Given the description of an element on the screen output the (x, y) to click on. 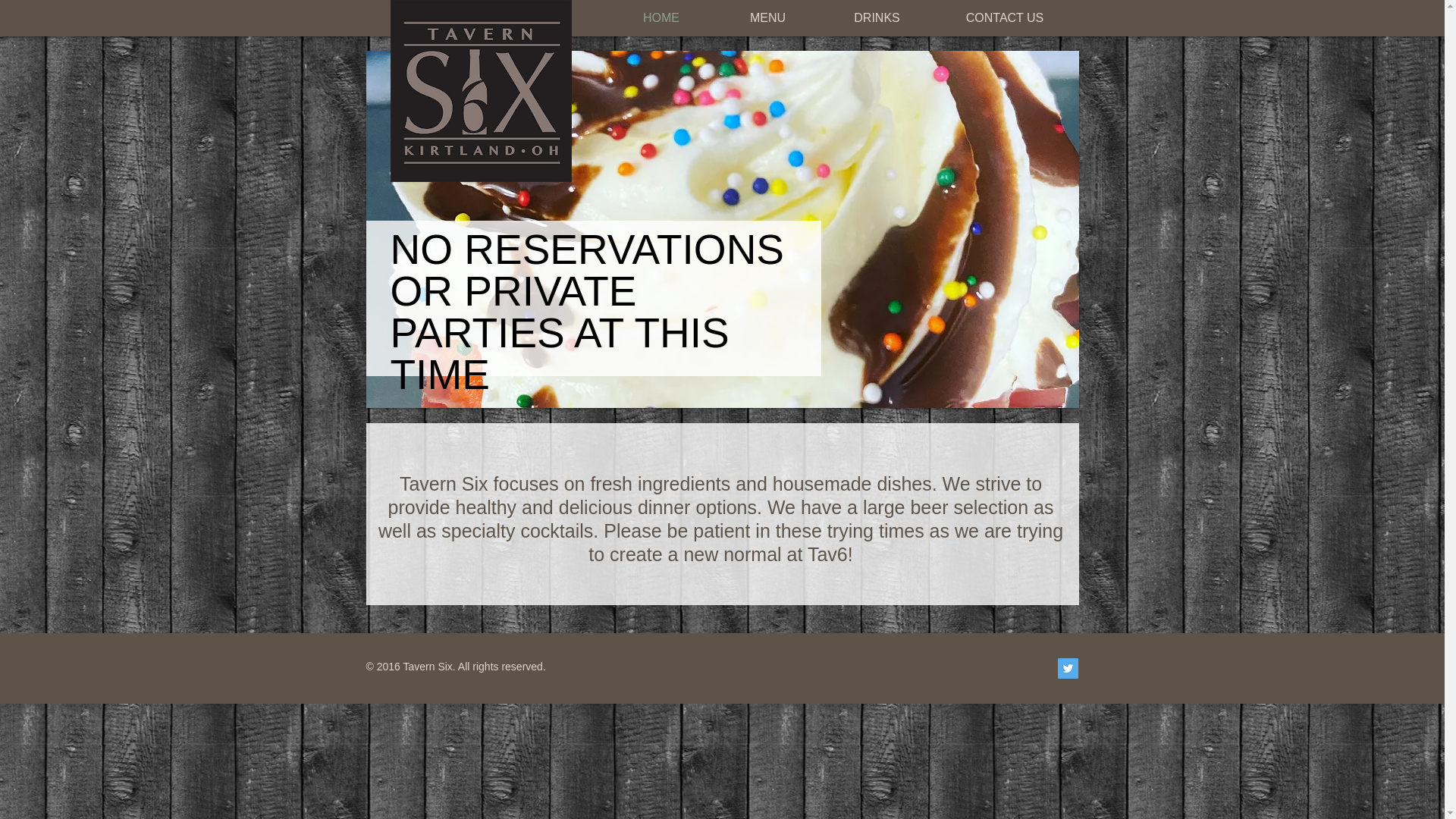
CONTACT US (1004, 17)
HOME (661, 17)
DRINKS (877, 17)
MENU (767, 17)
